Given the description of an element on the screen output the (x, y) to click on. 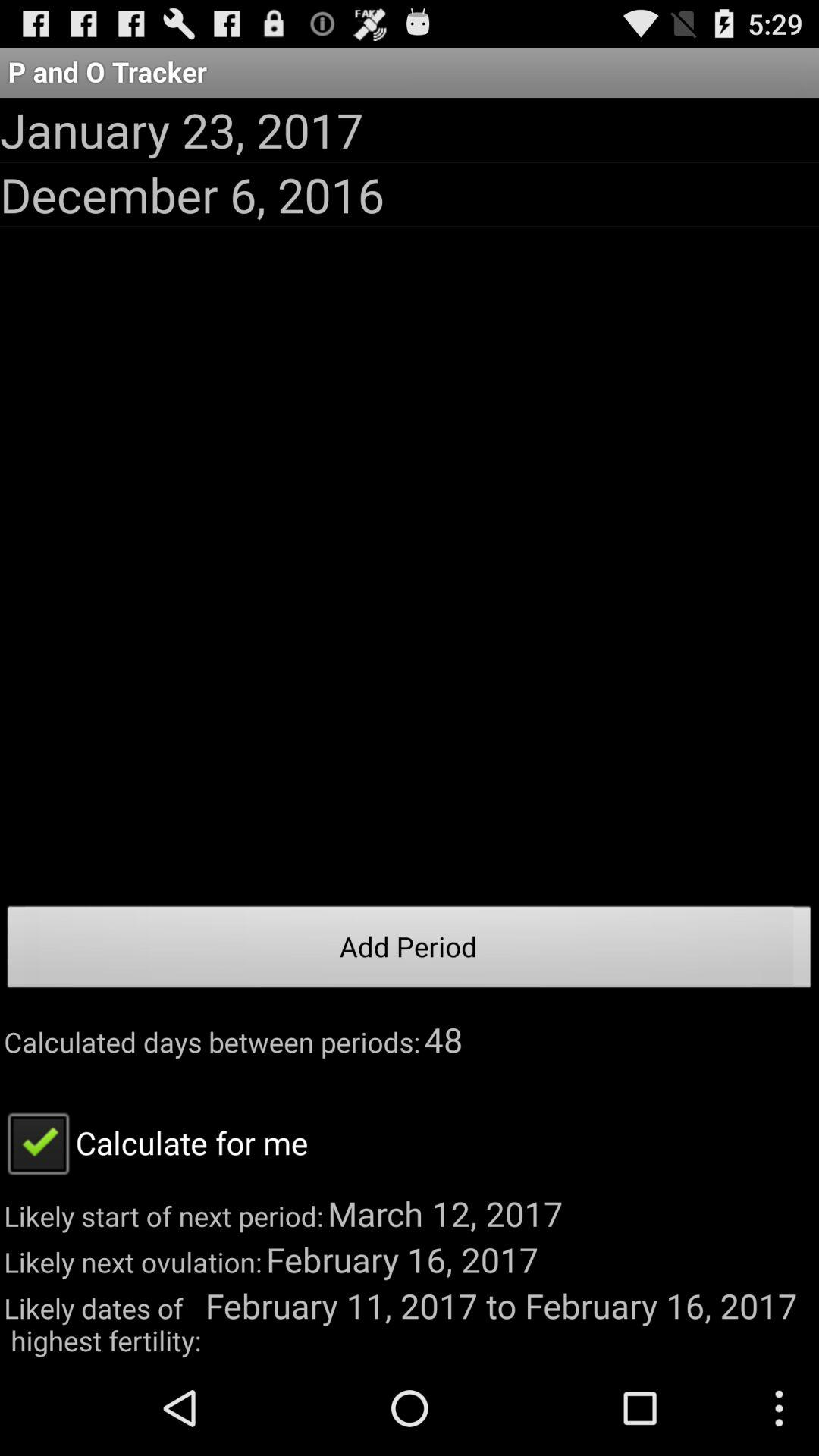
press the december 6, 2016 (192, 194)
